Given the description of an element on the screen output the (x, y) to click on. 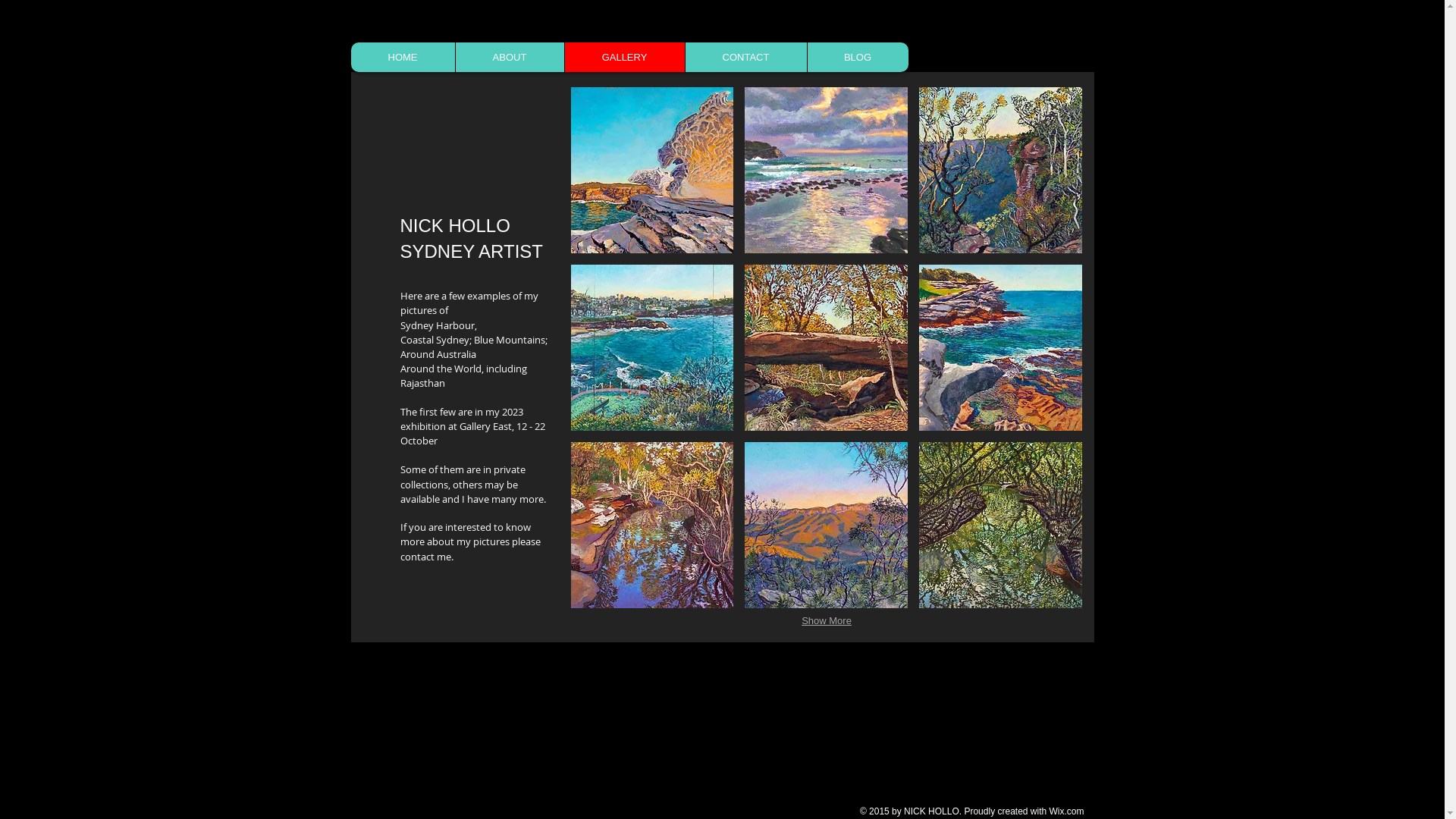
ABOUT Element type: text (509, 57)
Show More Element type: text (826, 620)
Wix.com Element type: text (1066, 811)
HOME Element type: text (402, 57)
BLOG Element type: text (857, 57)
CONTACT Element type: text (745, 57)
GALLERY Element type: text (624, 57)
